Given the description of an element on the screen output the (x, y) to click on. 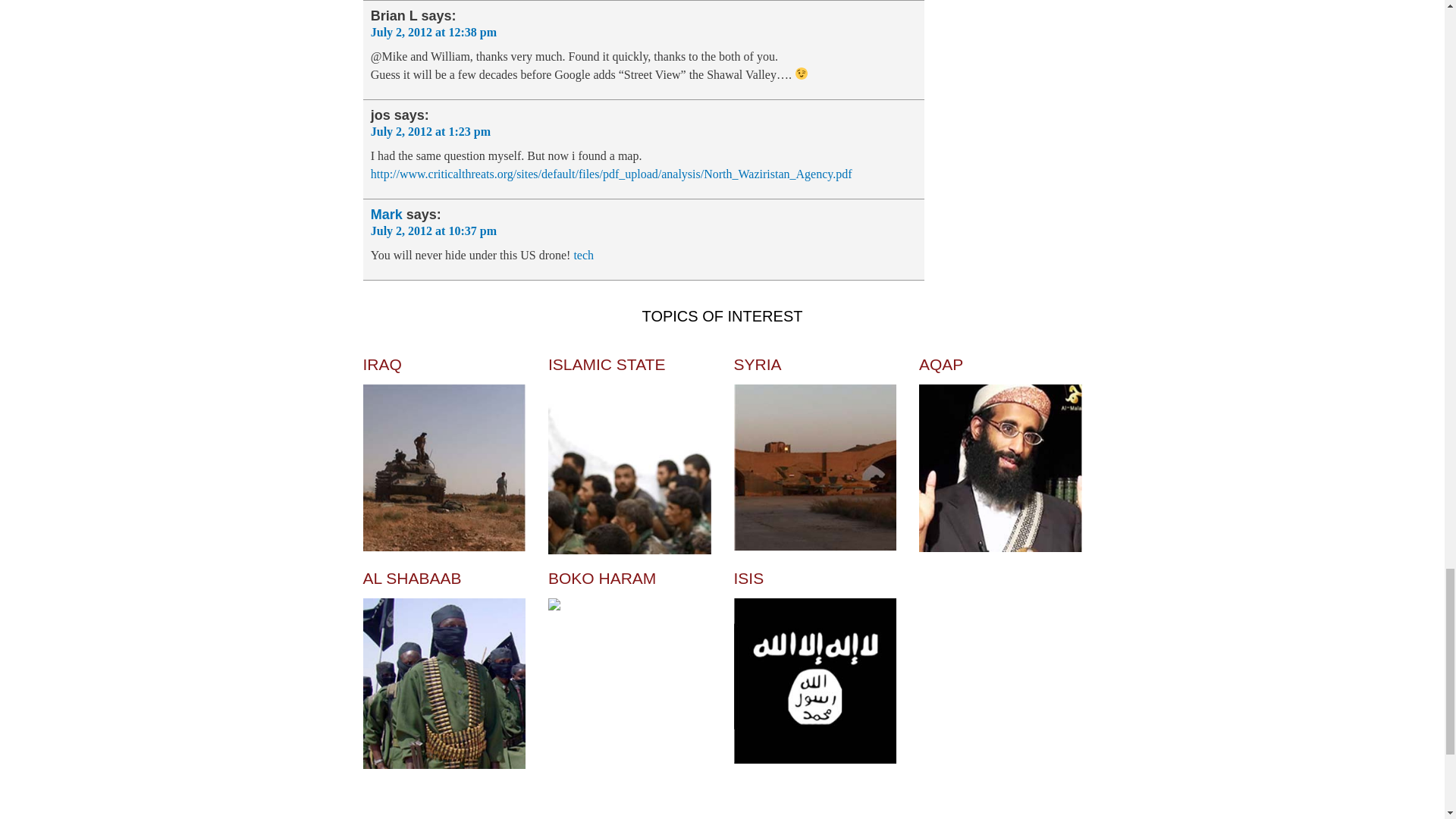
July 2, 2012 at 12:38 pm (433, 31)
